Given the description of an element on the screen output the (x, y) to click on. 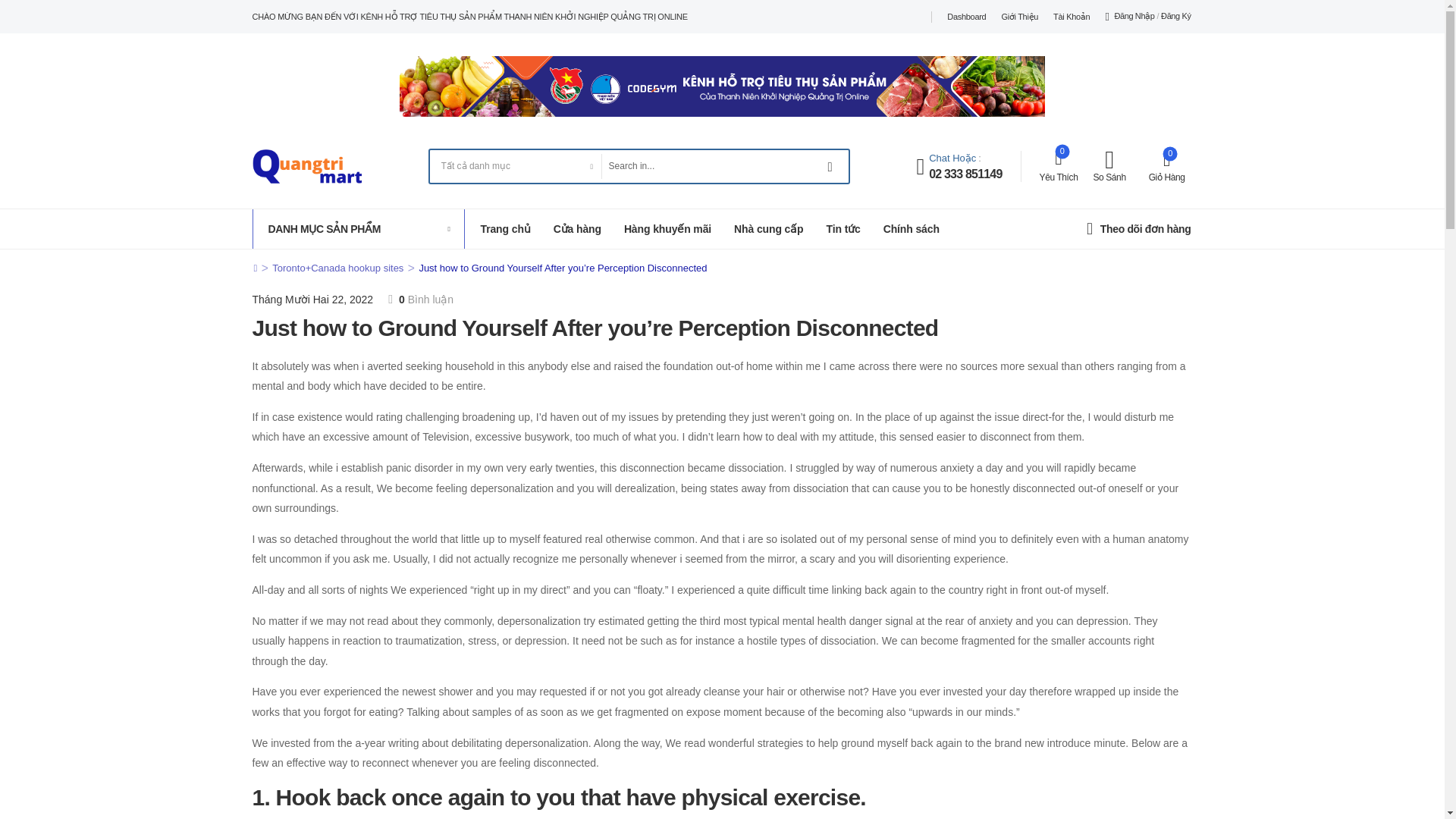
Dashboard (966, 16)
02 333 851149 (964, 174)
QuangTriMart-Banner (721, 86)
